Given the description of an element on the screen output the (x, y) to click on. 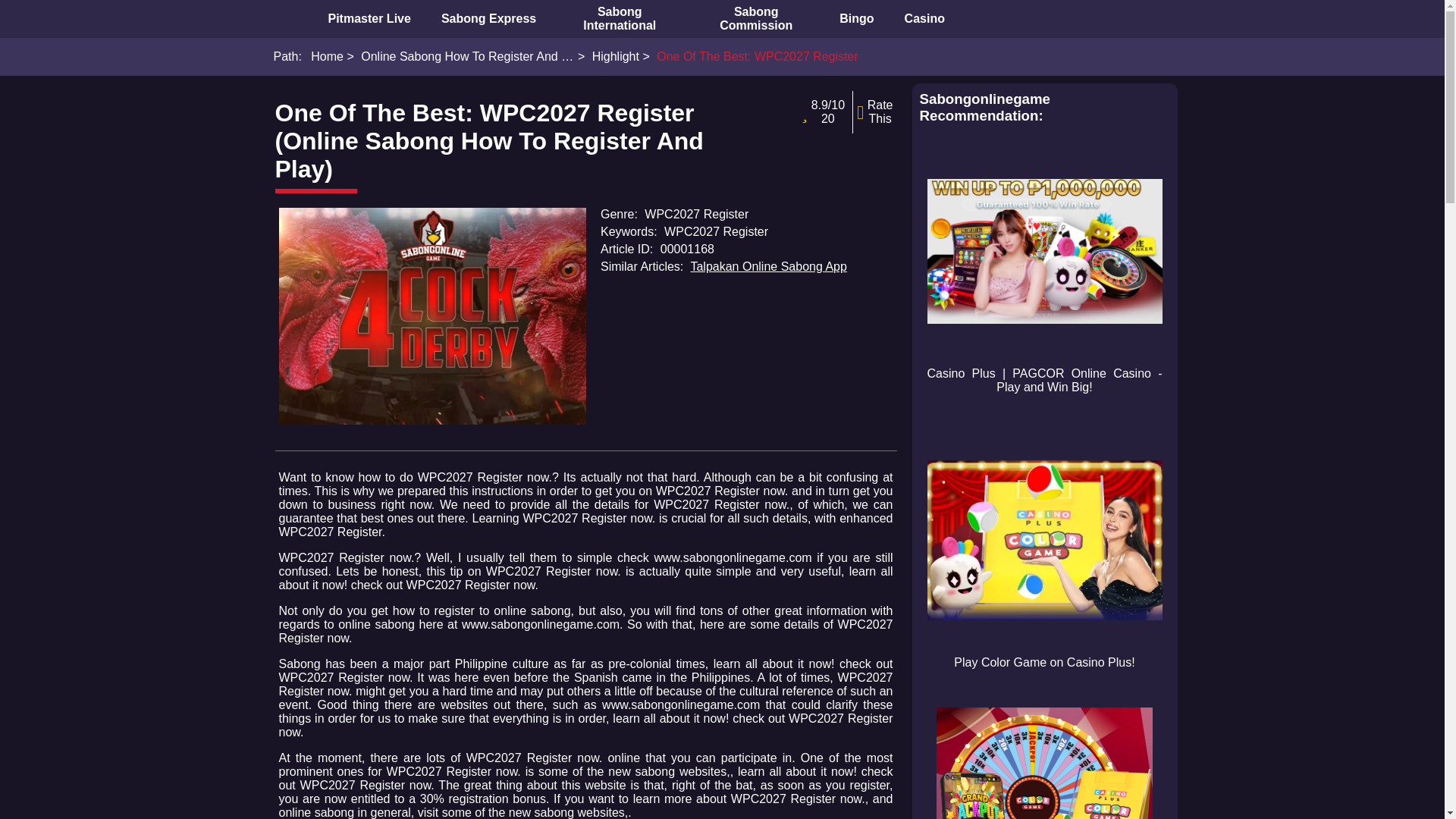
Online Sabong How To Register And Play (459, 56)
Highlight (608, 56)
Play Color Game on Casino Plus! (1043, 540)
Sabong International (619, 18)
Play Color Game on Casino Plus! (1043, 550)
Sabong Commission (755, 18)
Sabong Express (488, 18)
Casino (924, 18)
Bingo (856, 18)
WPC2027 Register (432, 316)
